Given the description of an element on the screen output the (x, y) to click on. 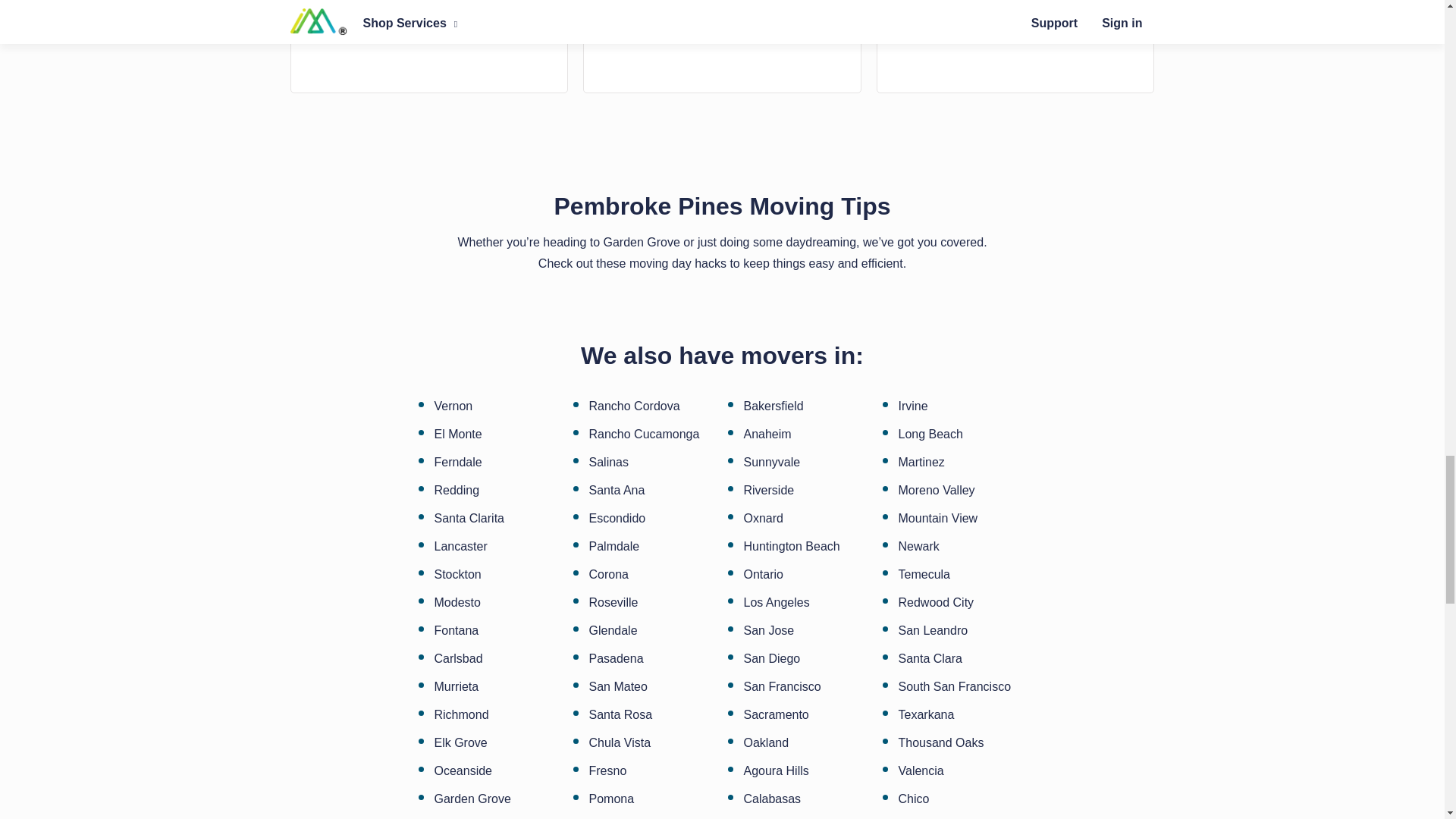
Redding (456, 490)
Modesto (456, 603)
Carlsbad (457, 658)
Stockton (456, 574)
Vernon (452, 406)
El Monte (457, 434)
Lancaster (459, 546)
Fontana (456, 630)
Santa Clarita (468, 518)
Ferndale (457, 462)
